Given the description of an element on the screen output the (x, y) to click on. 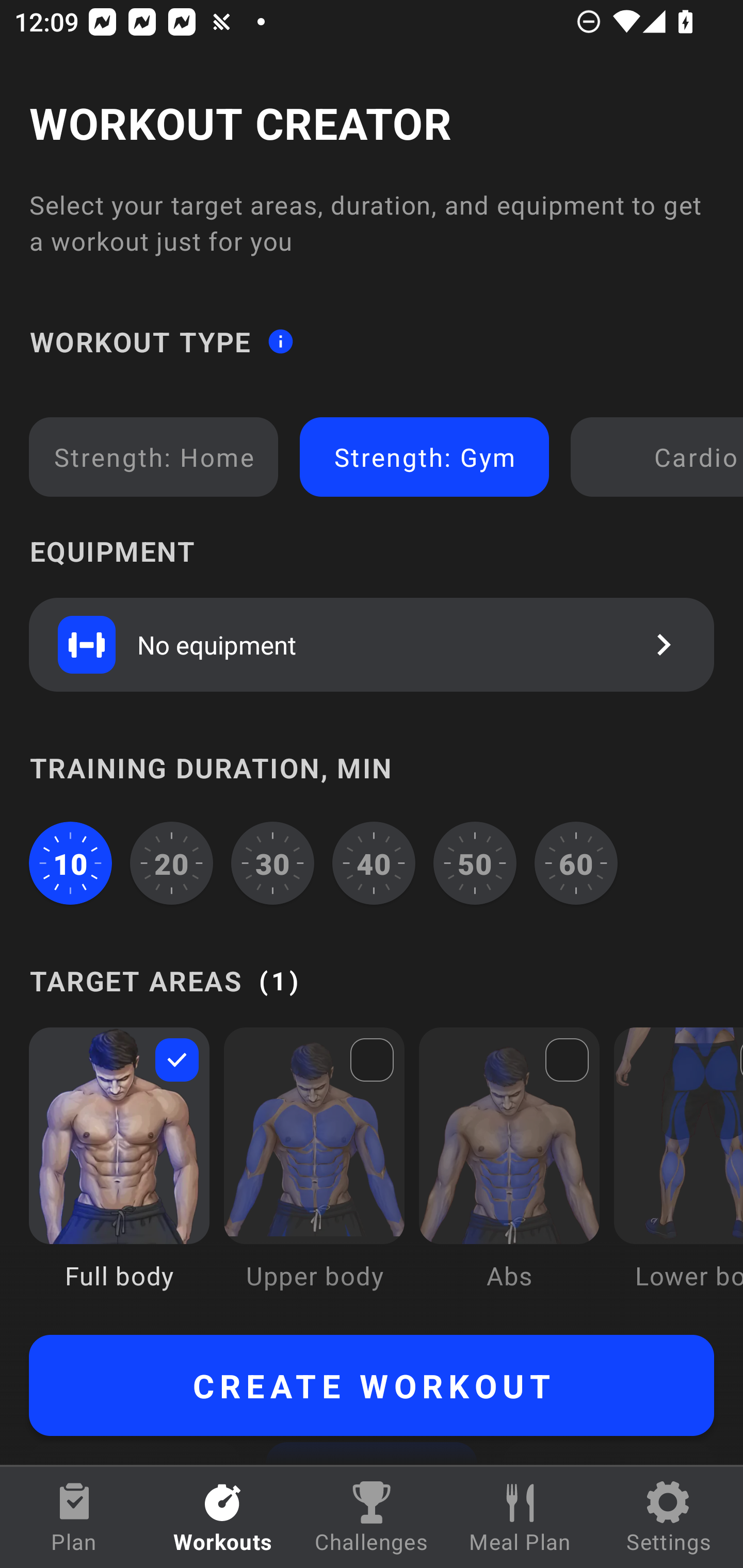
Workout type information button (280, 340)
Strength: Home (153, 457)
Cardio (660, 457)
No equipment (371, 644)
10 (70, 863)
20 (171, 863)
30 (272, 863)
40 (373, 863)
50 (474, 863)
60 (575, 863)
Upper body (313, 1172)
Abs (509, 1172)
Lower body (678, 1172)
CREATE WORKOUT (371, 1385)
 Plan  (74, 1517)
 Challenges  (371, 1517)
 Meal Plan  (519, 1517)
 Settings  (668, 1517)
